Given the description of an element on the screen output the (x, y) to click on. 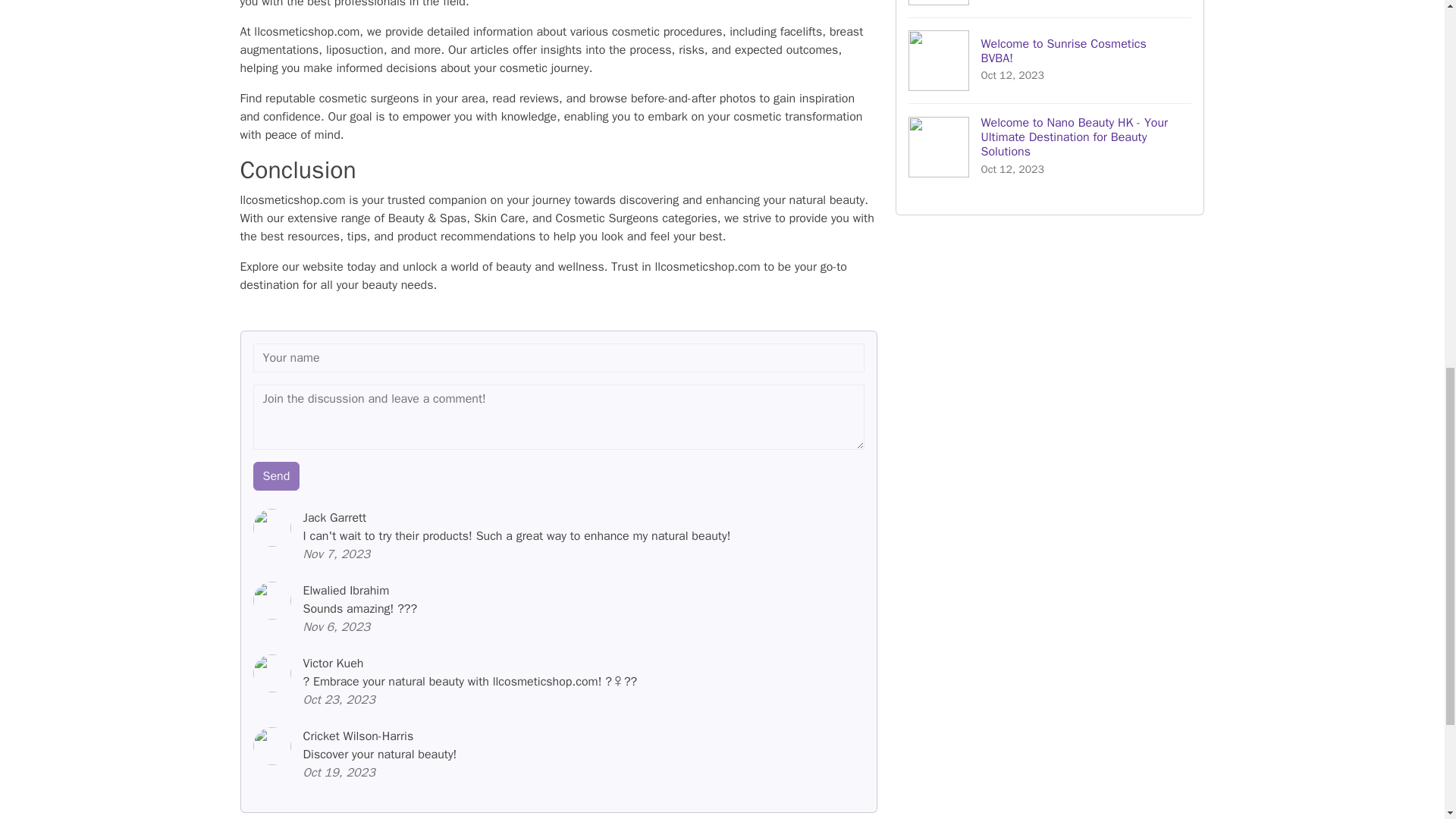
Send (1050, 8)
Send (1050, 60)
